Given the description of an element on the screen output the (x, y) to click on. 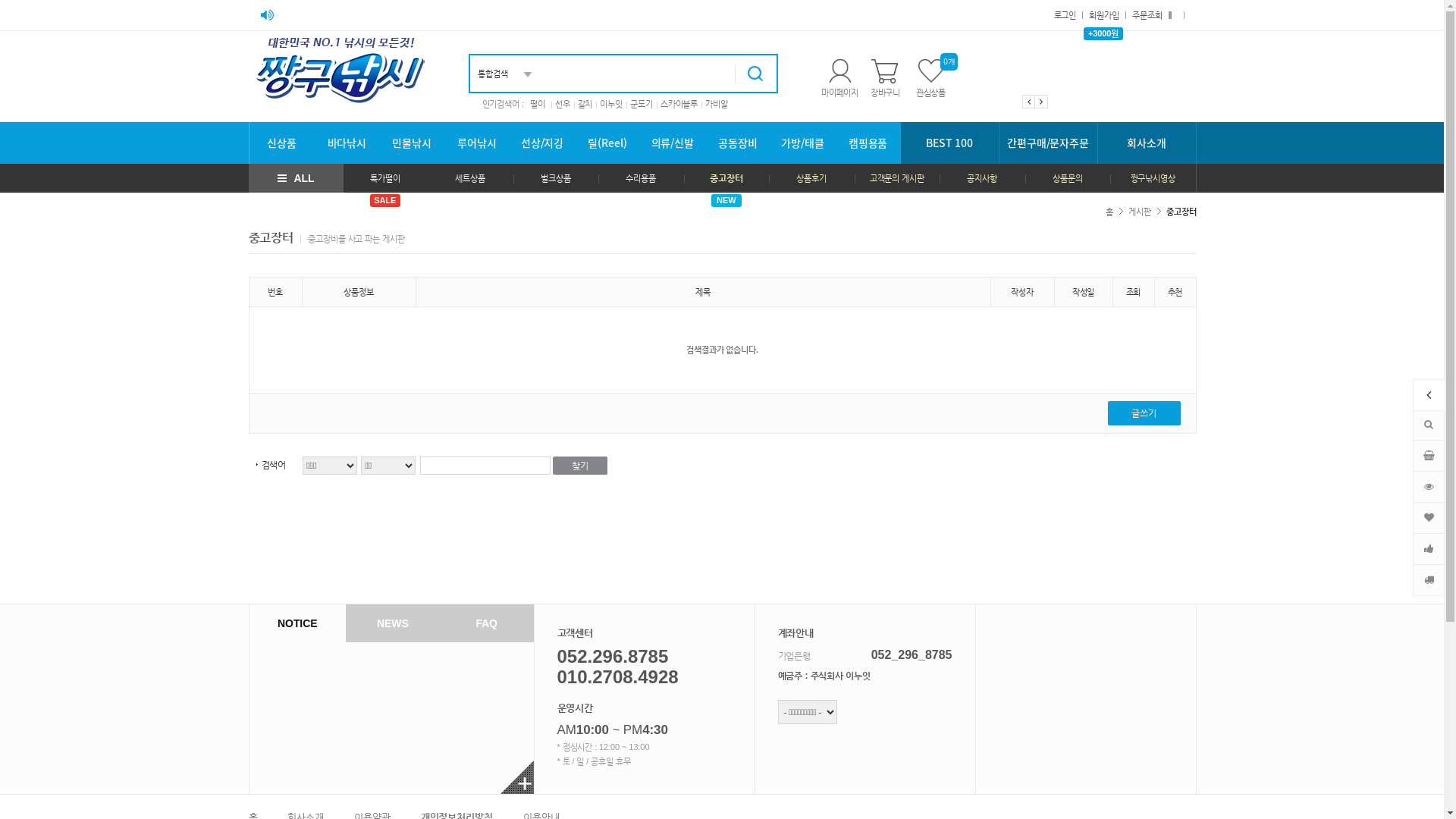
NOTICE Element type: text (296, 622)
BEST 100 Element type: text (949, 142)
NEWS Element type: text (392, 622)
FAQ Element type: text (486, 622)
